Given the description of an element on the screen output the (x, y) to click on. 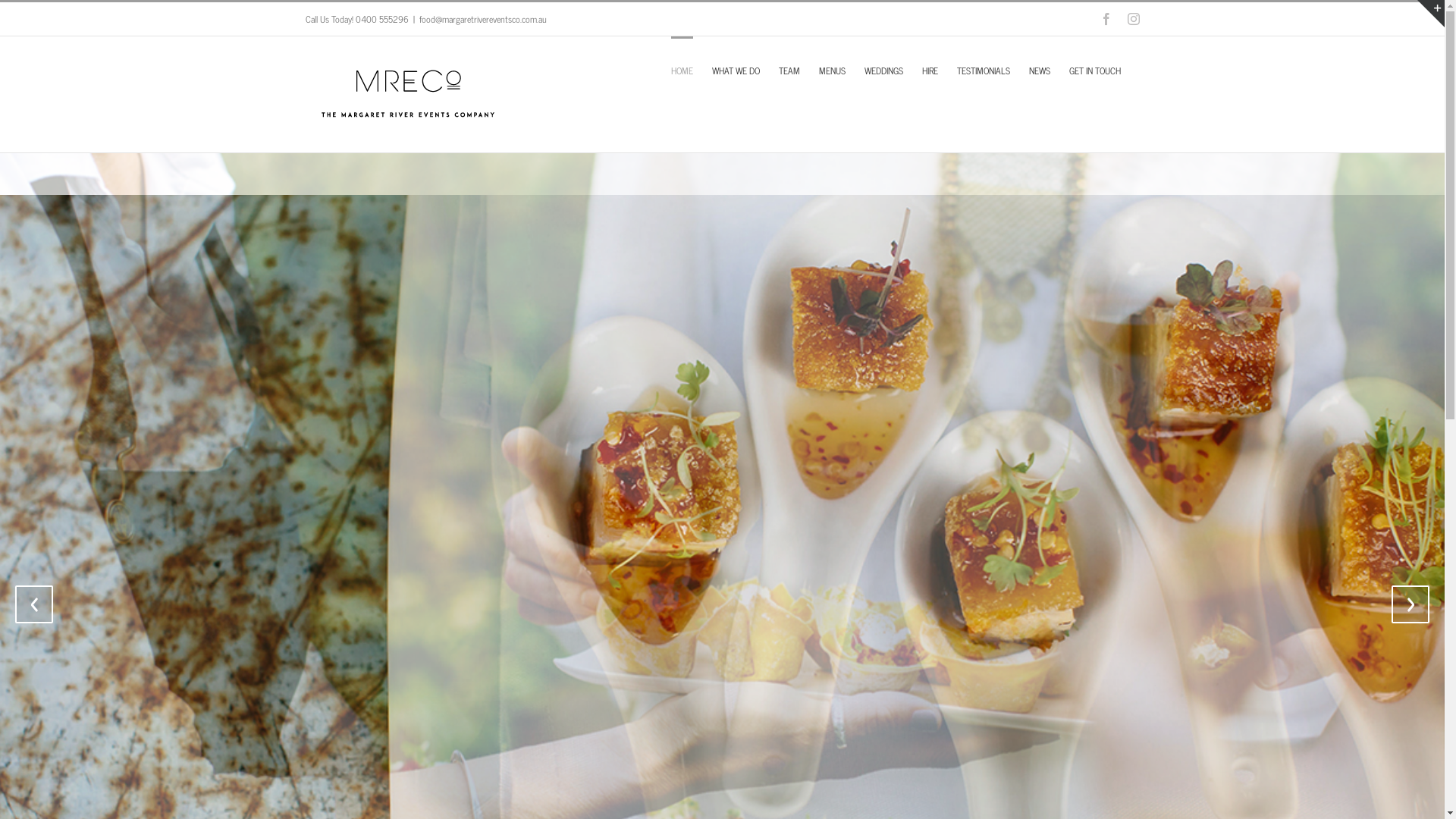
Facebook Element type: text (1105, 18)
MENUS Element type: text (832, 68)
GET IN TOUCH Element type: text (1094, 68)
TEAM Element type: text (788, 68)
HOME Element type: text (681, 68)
Instagram Element type: text (1132, 18)
HIRE Element type: text (930, 68)
TESTIMONIALS Element type: text (983, 68)
NEWS Element type: text (1038, 68)
WHAT WE DO Element type: text (735, 68)
Toggle Sliding Bar Area Element type: text (1430, 13)
WEDDINGS Element type: text (883, 68)
food@margaretrivereventsco.com.au Element type: text (482, 18)
